Given the description of an element on the screen output the (x, y) to click on. 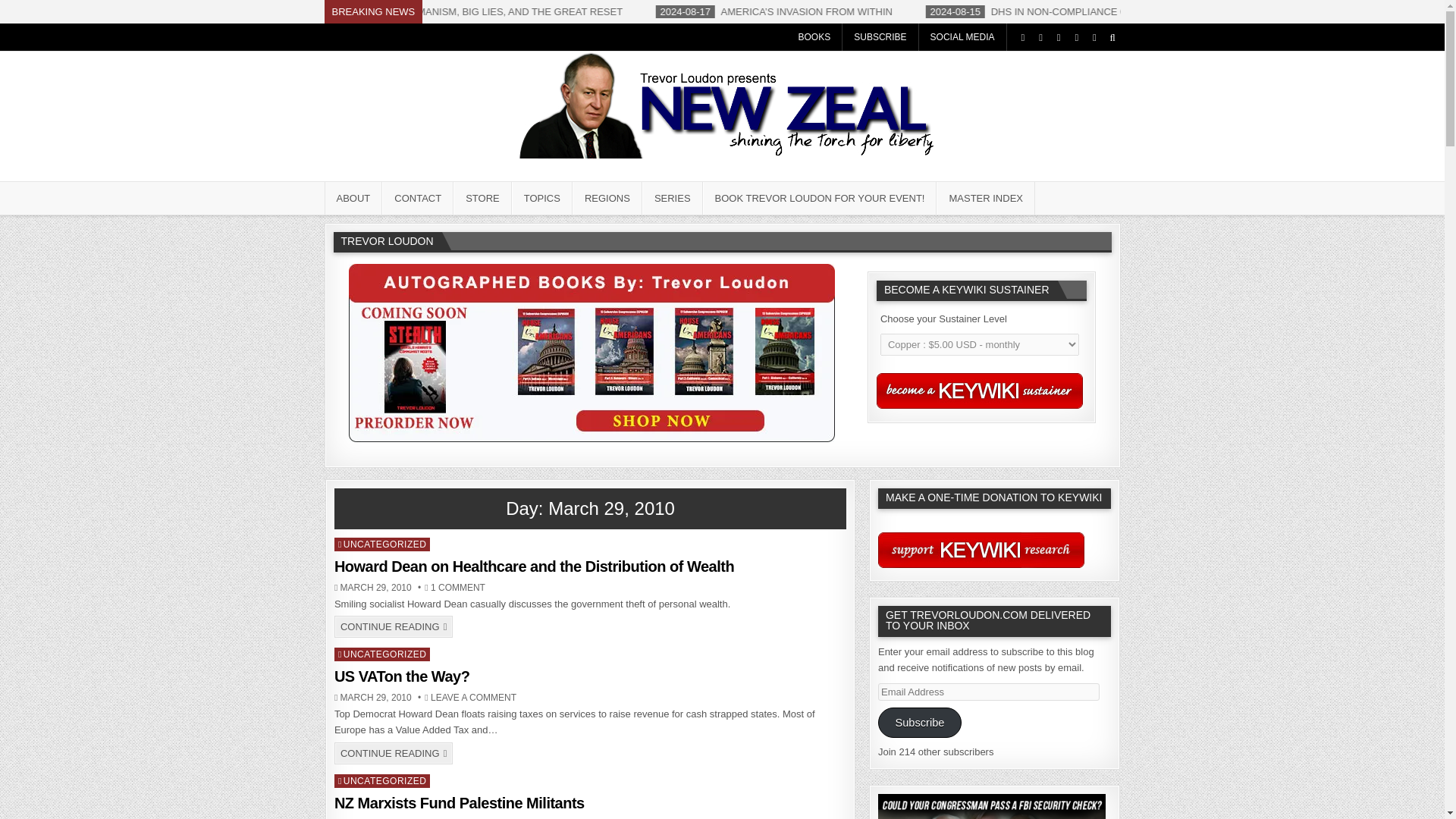
TOPICS (542, 197)
STORE (482, 197)
ABOUT (353, 197)
Twitter (1021, 37)
Youtube (1075, 37)
Facebook (1040, 37)
BOOKS (815, 36)
SOCIAL MEDIA (962, 36)
